Given the description of an element on the screen output the (x, y) to click on. 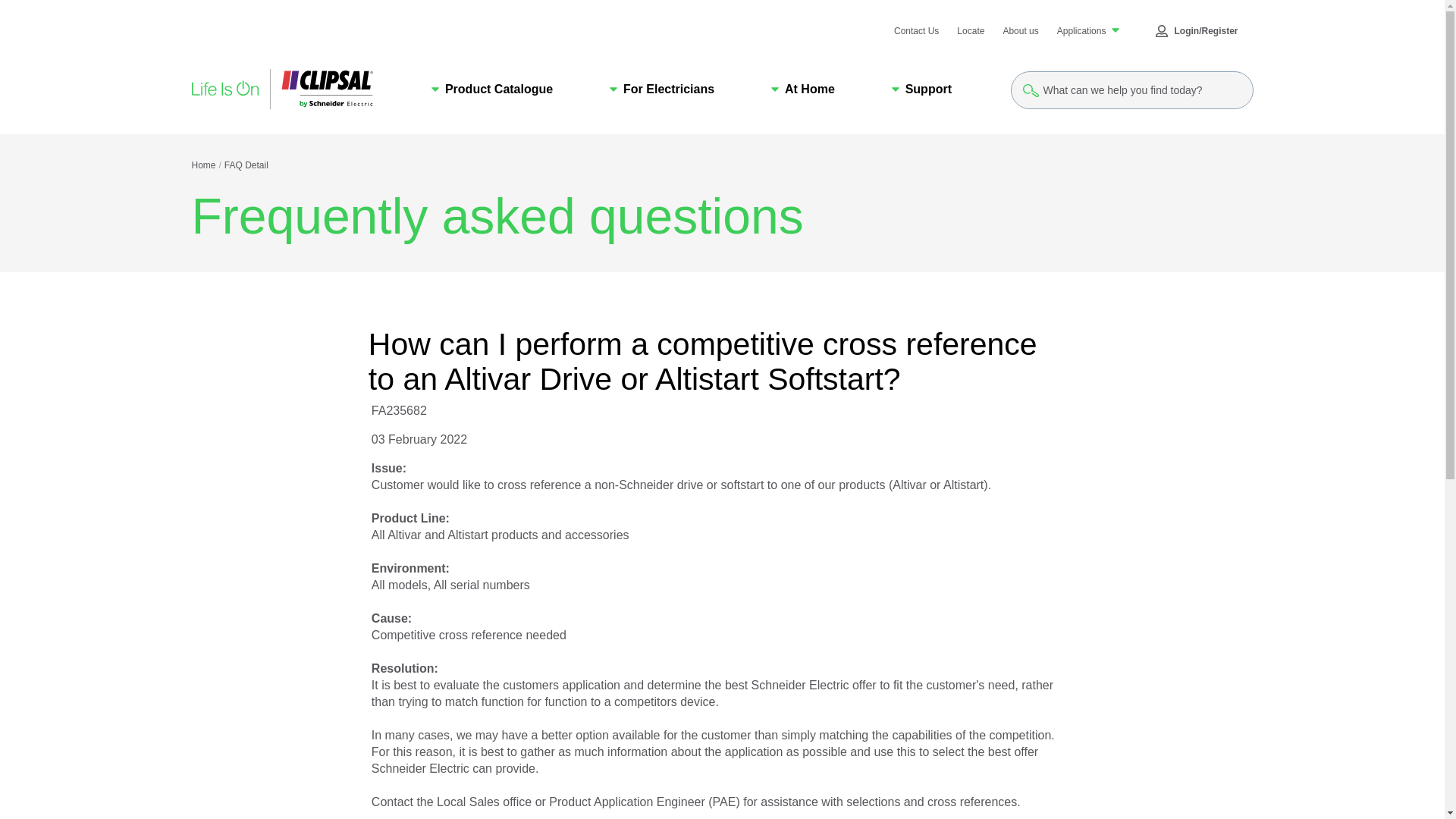
Product Catalogue (492, 88)
